Given the description of an element on the screen output the (x, y) to click on. 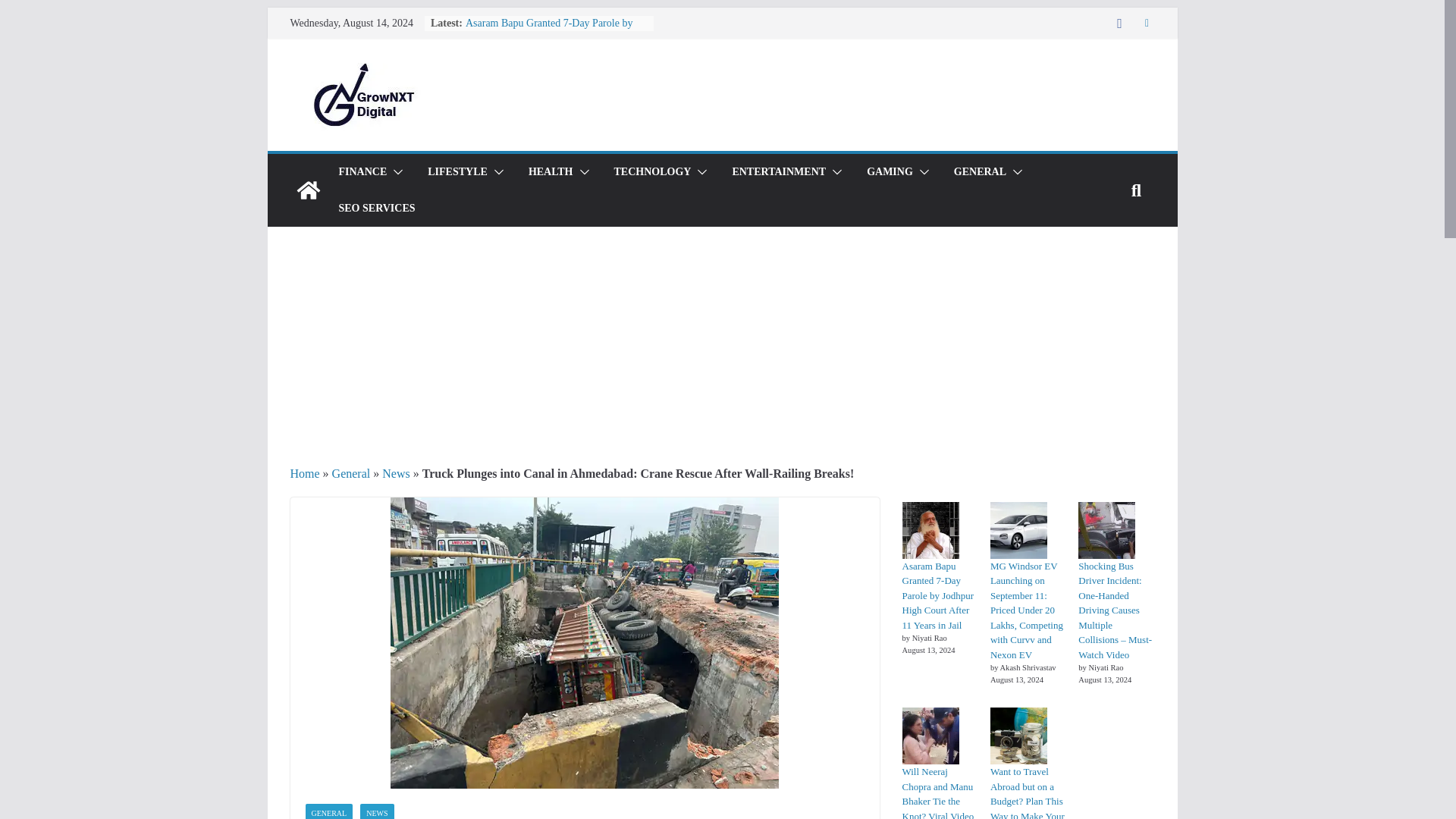
ENTERTAINMENT (778, 171)
GAMING (889, 171)
GENERAL (979, 171)
LIFESTYLE (457, 171)
FINANCE (362, 171)
TECHNOLOGY (652, 171)
